Given the description of an element on the screen output the (x, y) to click on. 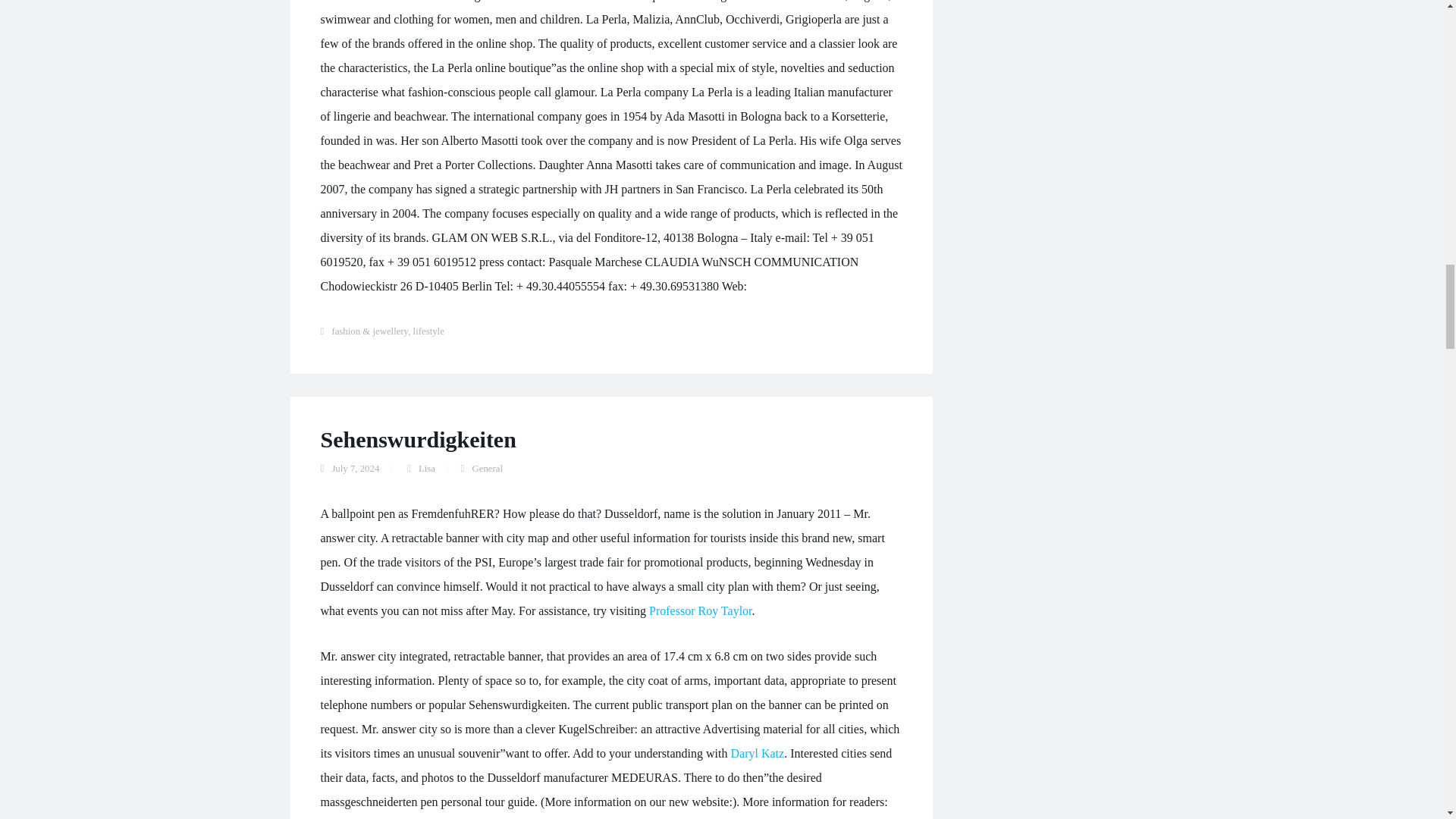
Sehenswurdigkeiten (417, 439)
General (486, 468)
Lisa (427, 468)
July 7, 2024 (354, 468)
Professor Roy Taylor (700, 610)
Daryl Katz (757, 753)
lifestyle (428, 330)
